Given the description of an element on the screen output the (x, y) to click on. 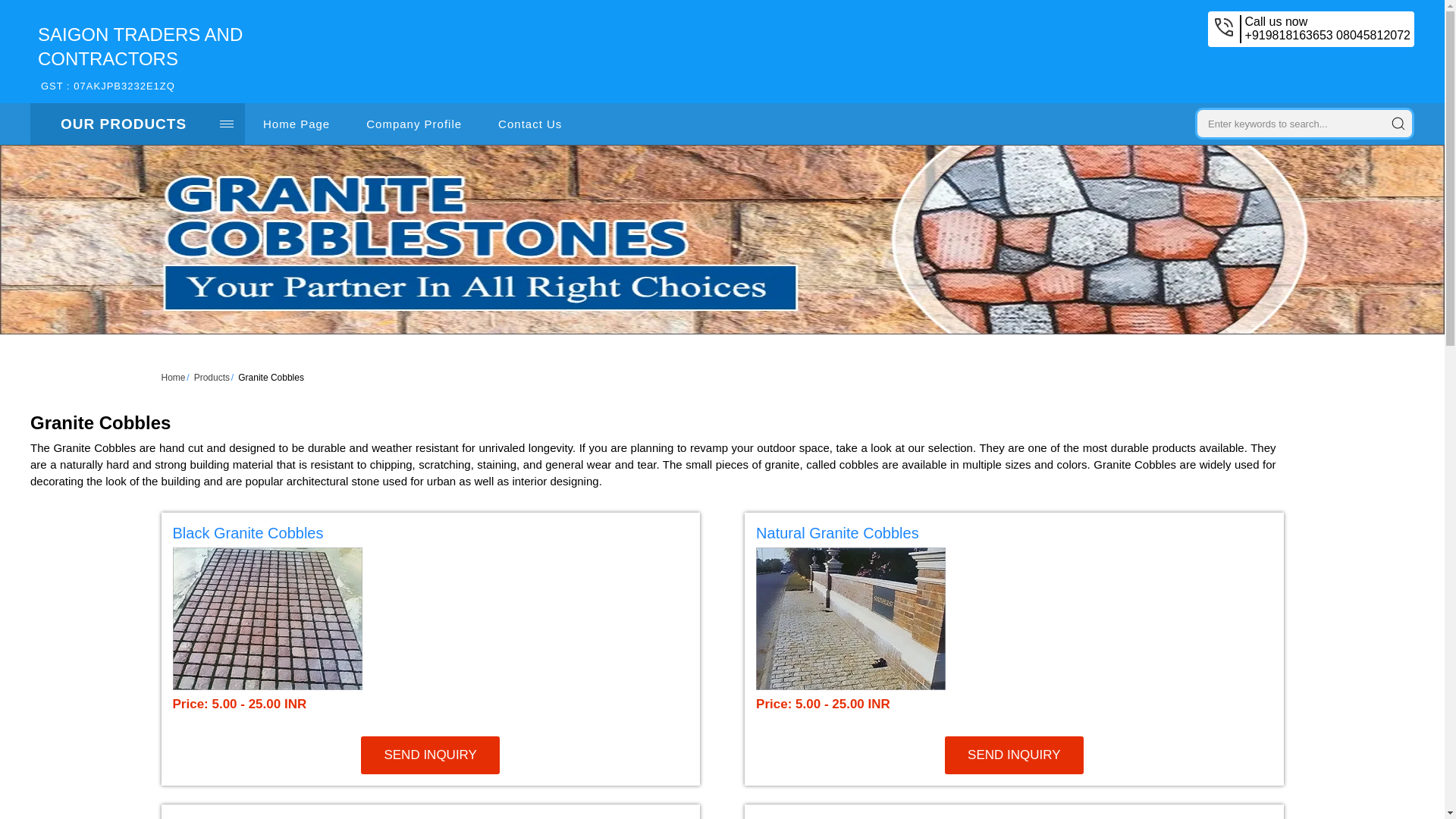
SEND INQUIRY (430, 754)
Silver Granite Cobbles (248, 817)
Home (172, 377)
submit (1398, 123)
Grey Granite Cobbles (140, 58)
Natural Granite Cobbles (1013, 754)
Natural Granite Cobbles (836, 532)
submit (1013, 535)
Products (1398, 123)
OUR PRODUCTS (211, 377)
Home Page (137, 123)
Contact Us (295, 123)
